Given the description of an element on the screen output the (x, y) to click on. 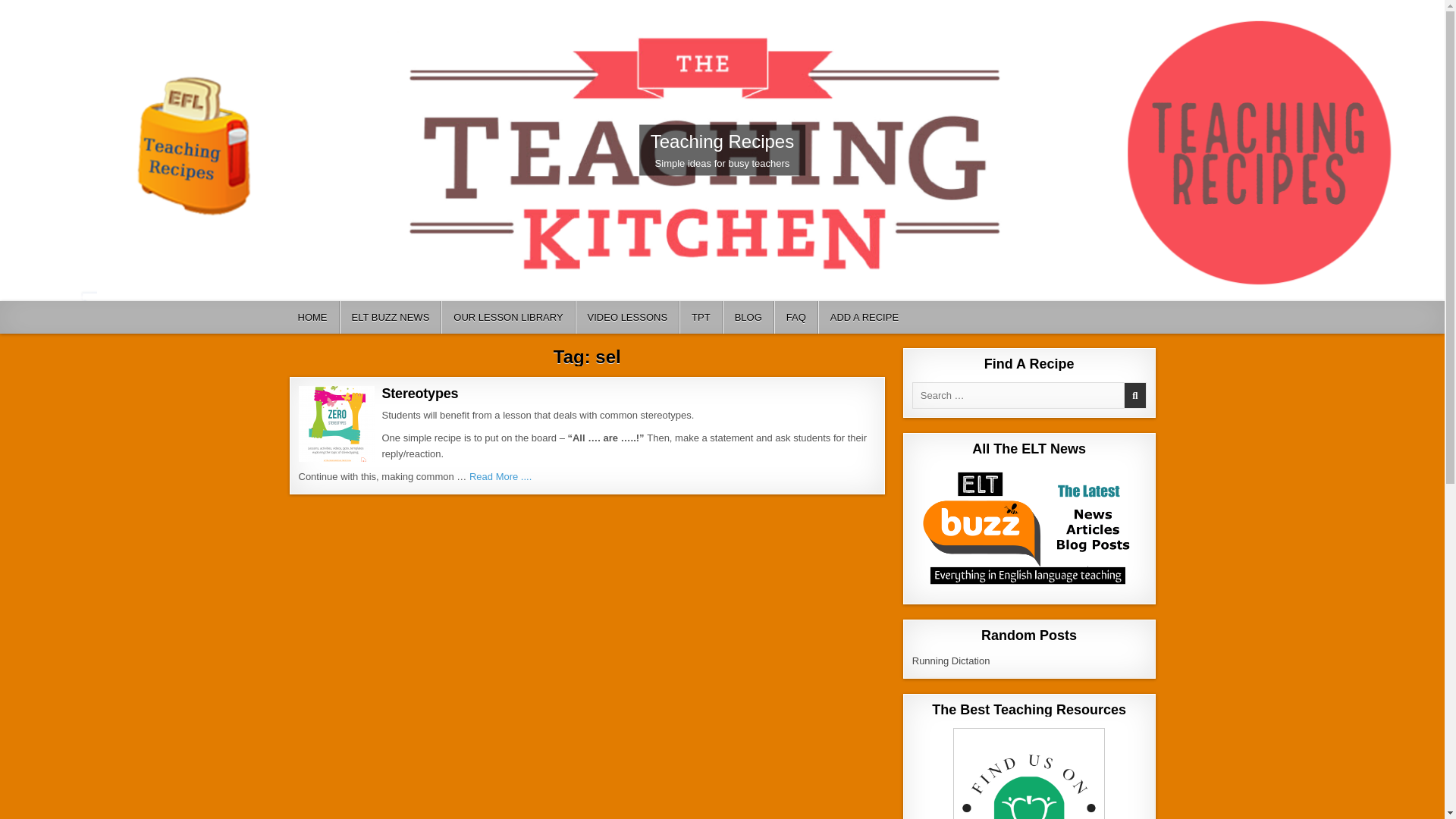
ELT BUZZ NEWS (390, 317)
TPT (700, 317)
FAQ (796, 317)
ADD A RECIPE (864, 317)
BLOG (748, 317)
Read More .... (499, 476)
OUR LESSON LIBRARY (508, 317)
Running Dictation (951, 660)
Stereotypes (419, 393)
VIDEO LESSONS (627, 317)
Permanent Link to Stereotypes (336, 423)
HOME (312, 317)
